Given the description of an element on the screen output the (x, y) to click on. 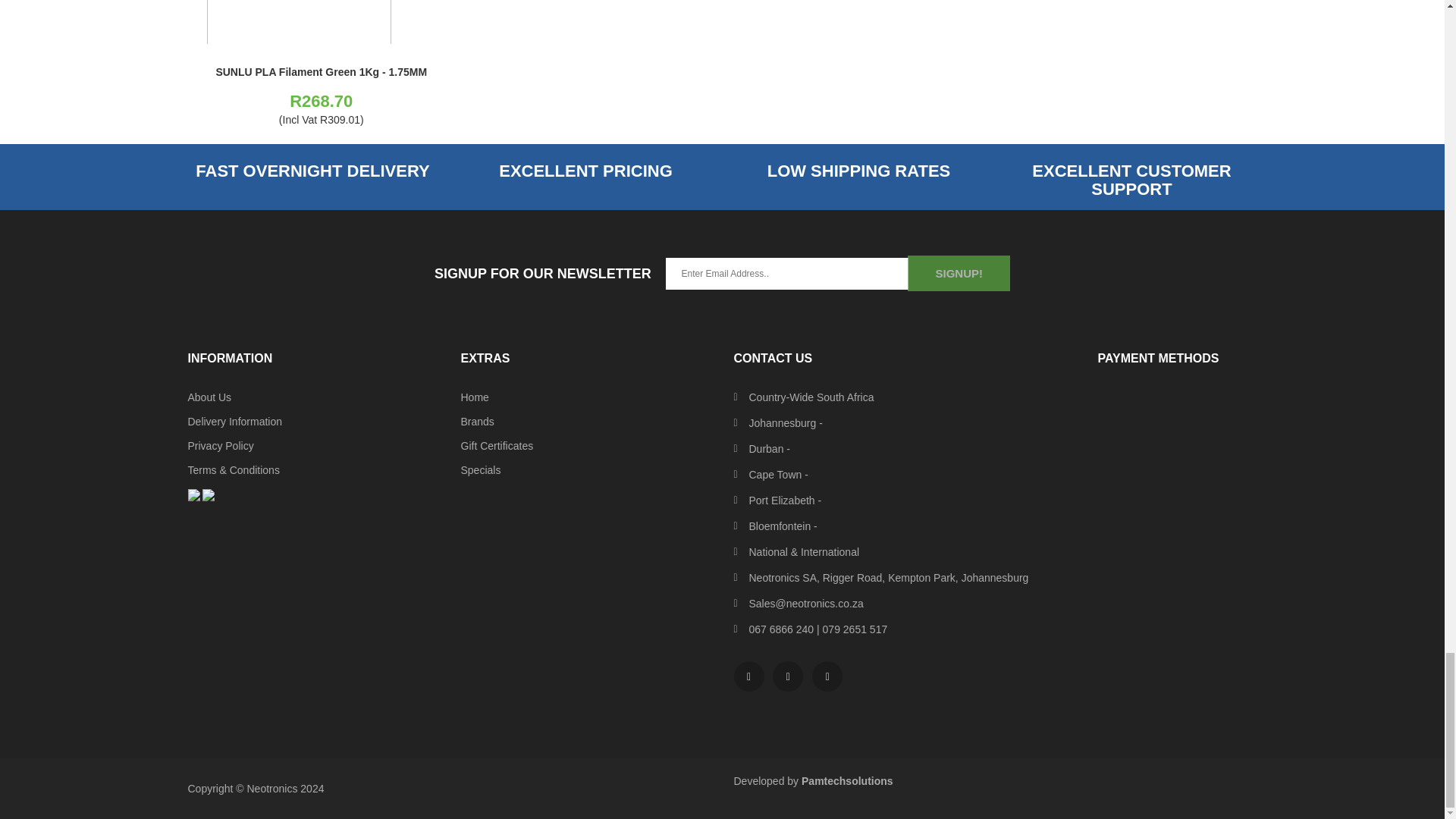
Enter Email Address.. (786, 273)
